Given the description of an element on the screen output the (x, y) to click on. 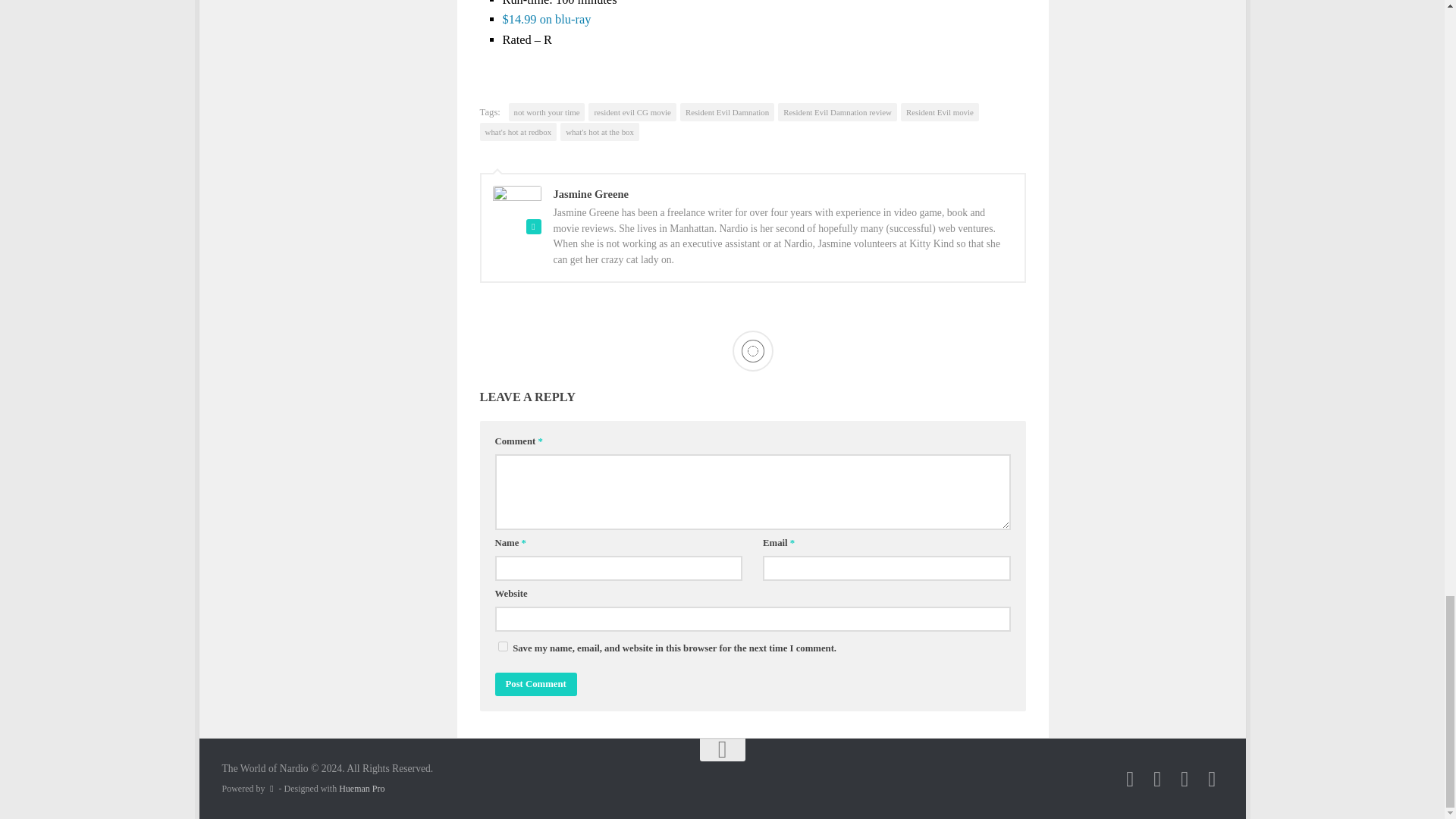
what's hot at the box (599, 131)
not worth your time (546, 112)
Resident Evil movie (939, 112)
Powered by WordPress (271, 788)
what's hot at redbox (517, 131)
Post Comment (535, 684)
resident evil CG movie (631, 112)
Post Comment (535, 684)
Resident Evil Damnation review (836, 112)
yes (501, 646)
